Given the description of an element on the screen output the (x, y) to click on. 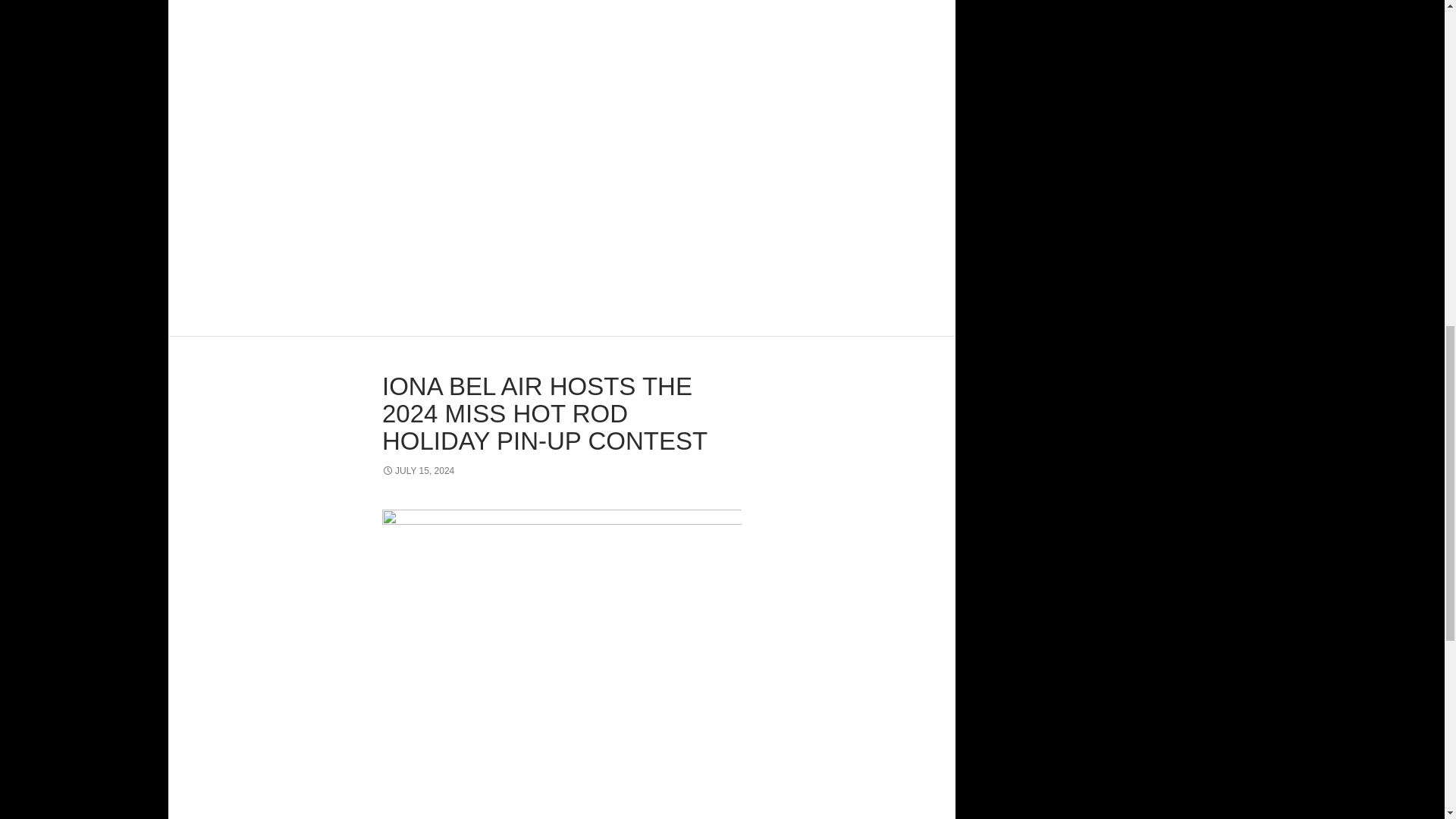
JULY 15, 2024 (417, 470)
